Given the description of an element on the screen output the (x, y) to click on. 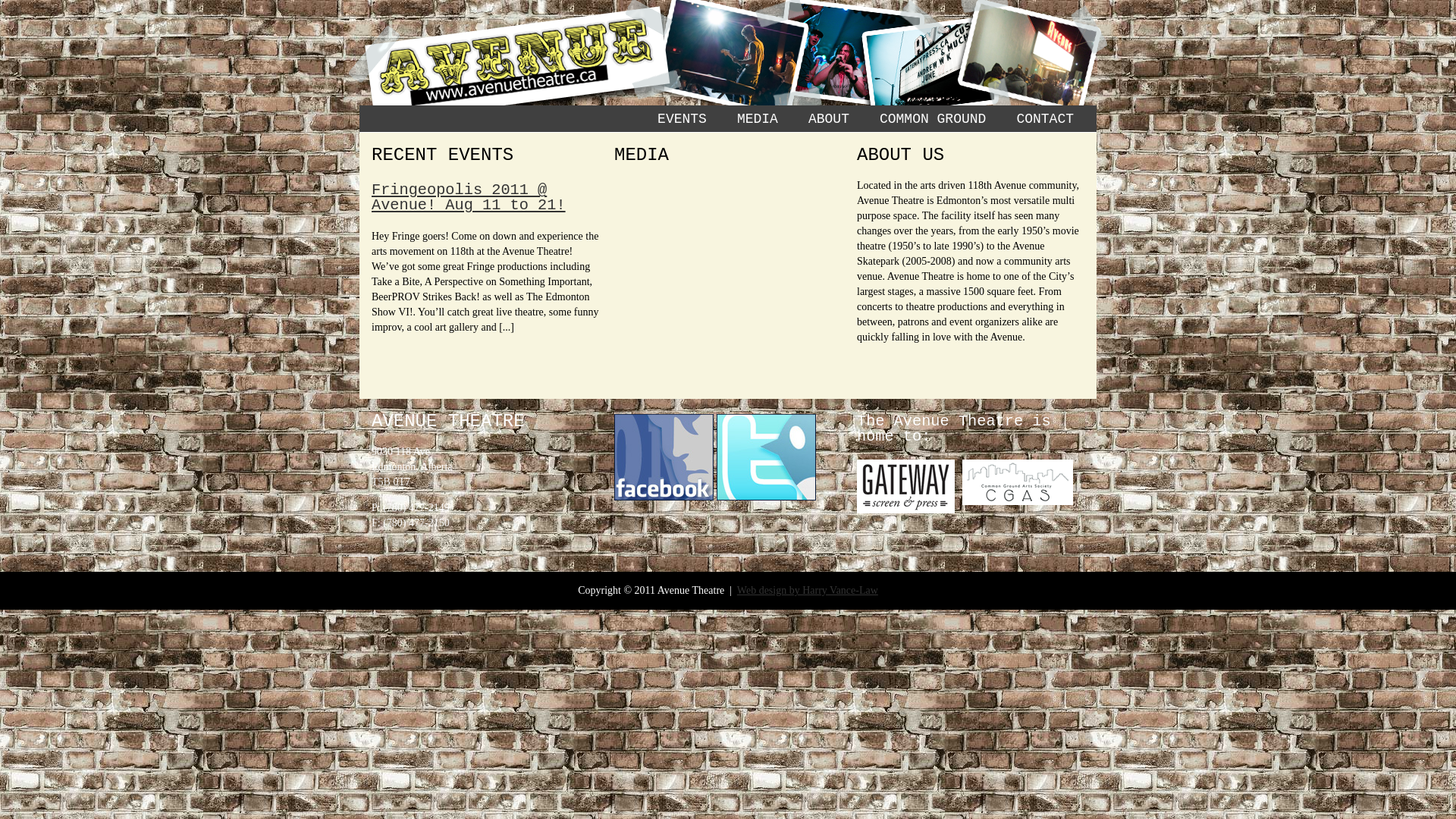
Fringeopolis 2011 @ Avenue! Aug 11 to 21! Element type: text (468, 197)
Avenue Theatre on Facebook Element type: hover (663, 496)
CONTACT Element type: text (1044, 118)
COMMON GROUND Element type: text (932, 118)
Avenue Theatre on Twitter Element type: hover (765, 496)
Web design by Harry Vance-Law Element type: text (807, 590)
MEDIA Element type: text (757, 118)
EVENTS Element type: text (681, 118)
ABOUT Element type: text (828, 118)
